Given the description of an element on the screen output the (x, y) to click on. 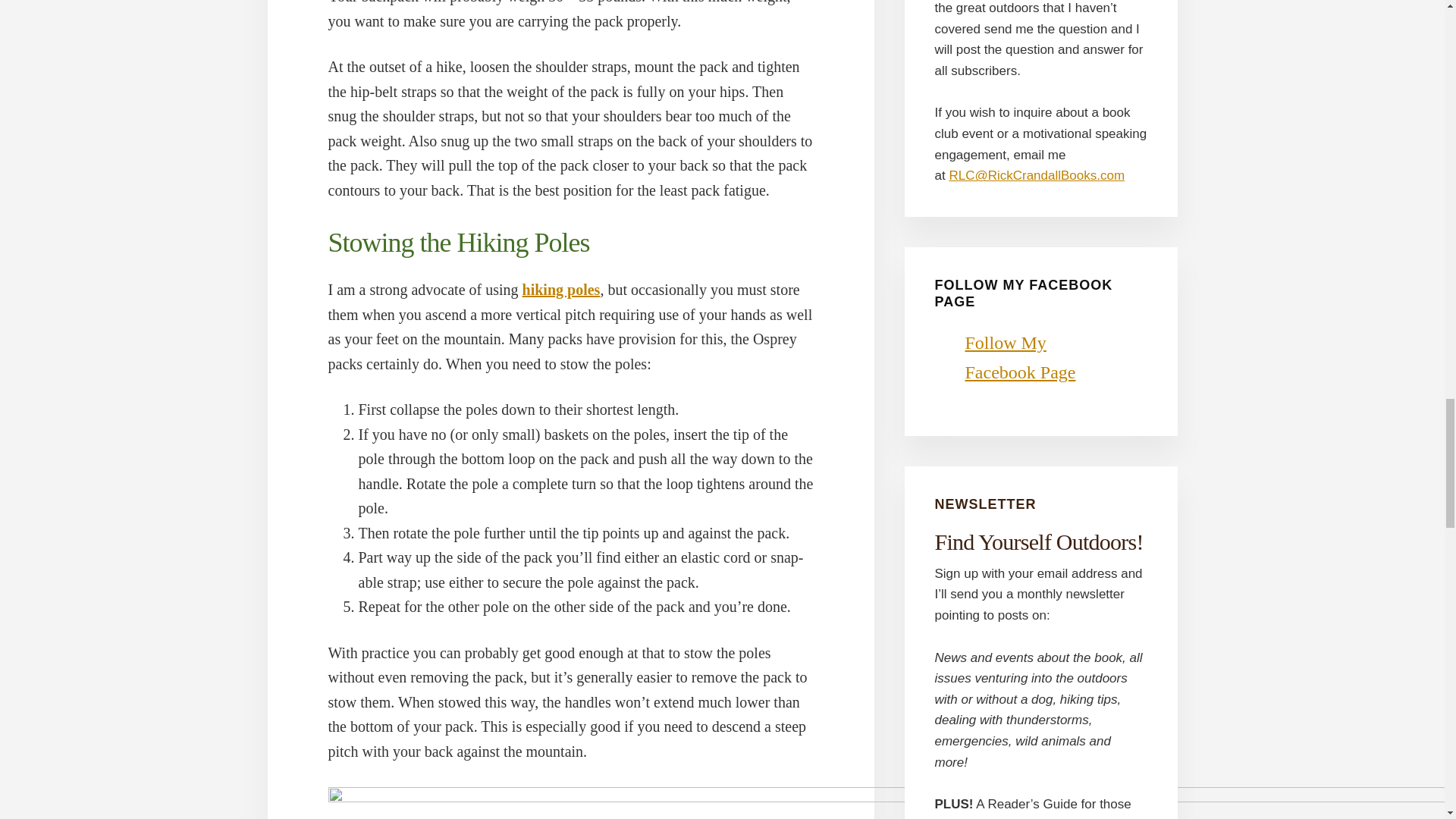
hiking poles (560, 289)
